Given the description of an element on the screen output the (x, y) to click on. 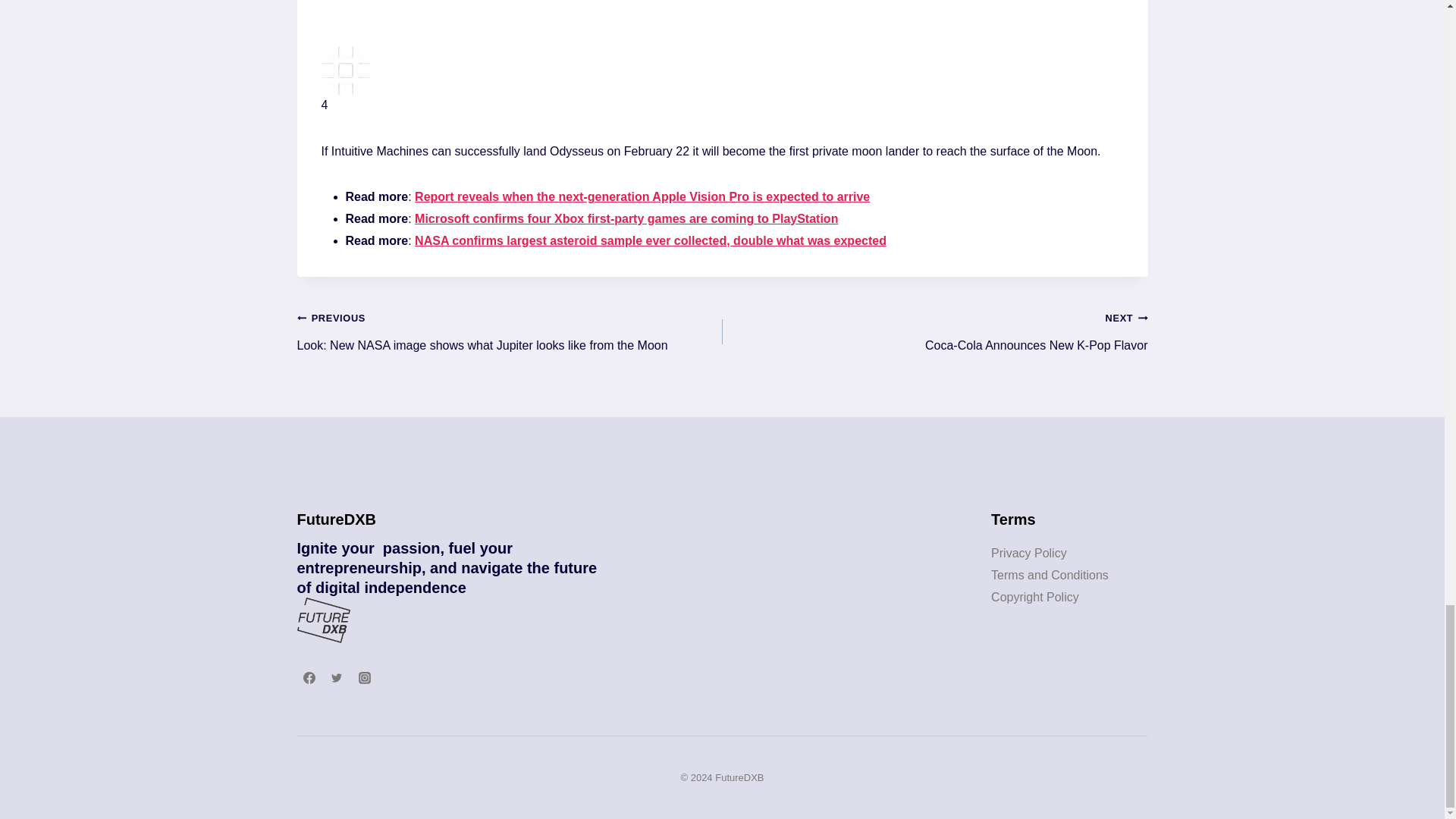
Privacy Policy (1029, 553)
Terms and Conditions (934, 331)
Open Gallery (1049, 574)
Copyright Policy (722, 94)
